Given the description of an element on the screen output the (x, y) to click on. 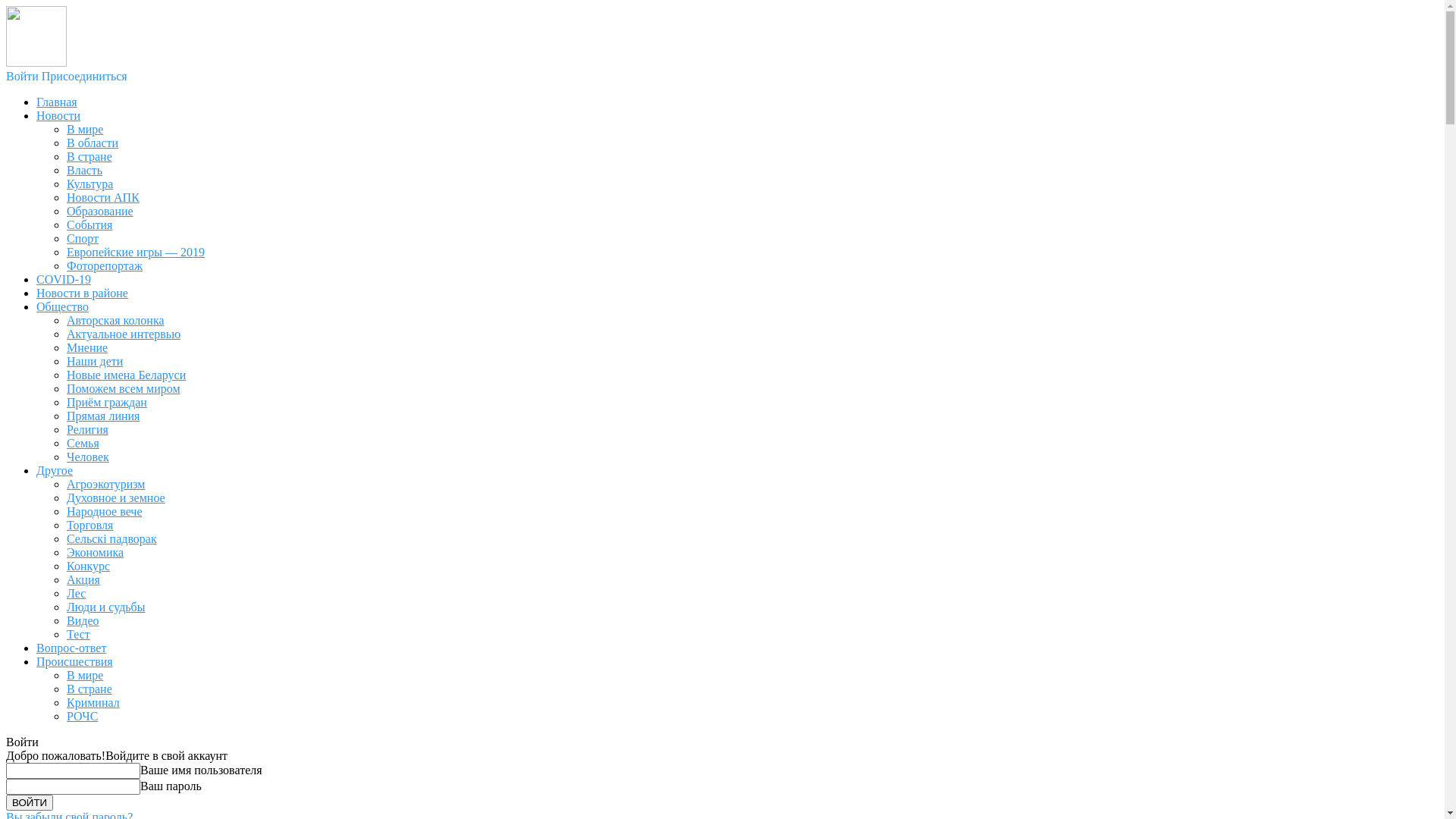
COVID-19 Element type: text (63, 279)
